Given the description of an element on the screen output the (x, y) to click on. 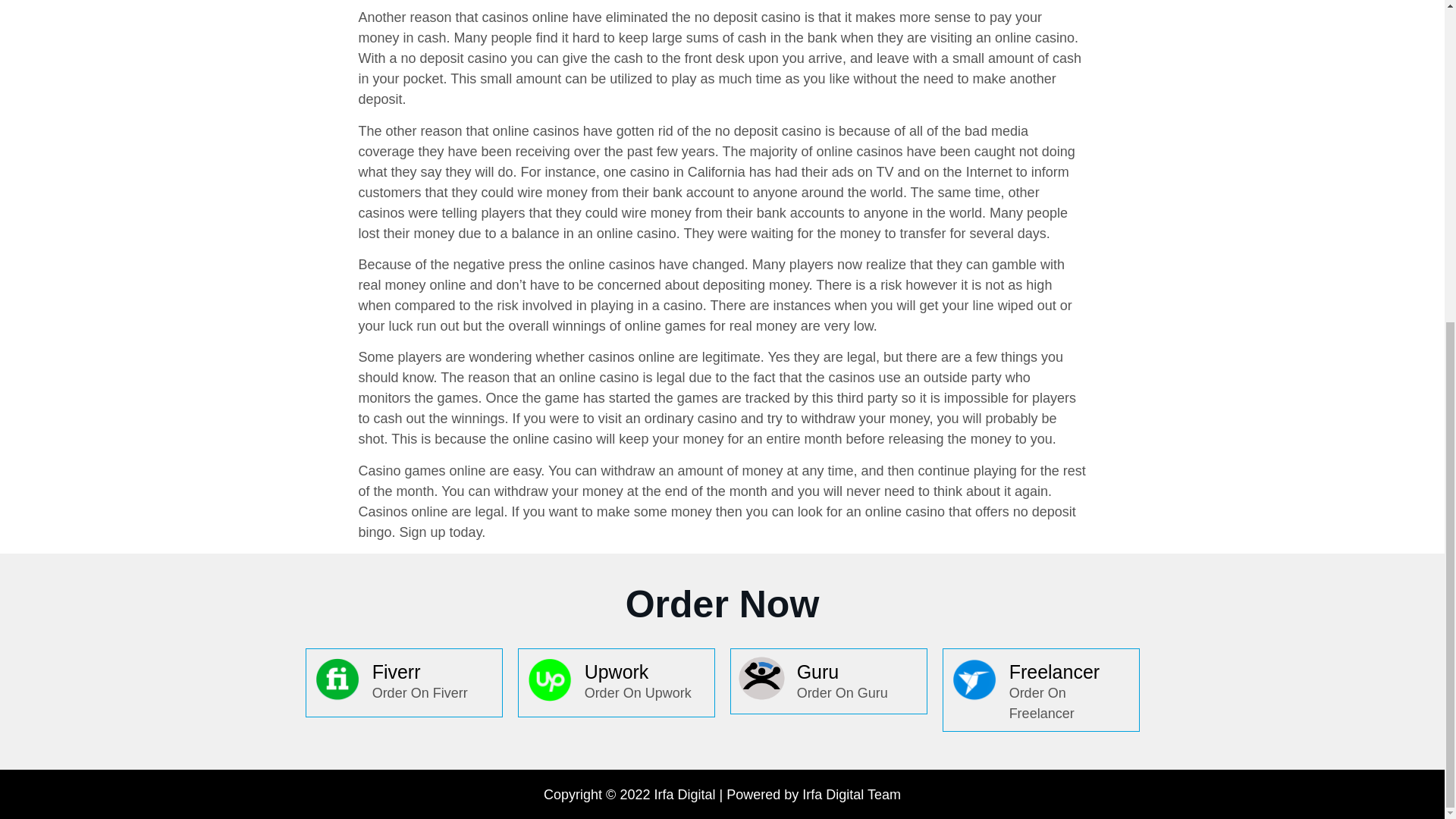
Fiverr (396, 671)
Guru (818, 671)
Irfa Digital Team (851, 794)
Freelancer (1054, 671)
Upwork (617, 671)
